Given the description of an element on the screen output the (x, y) to click on. 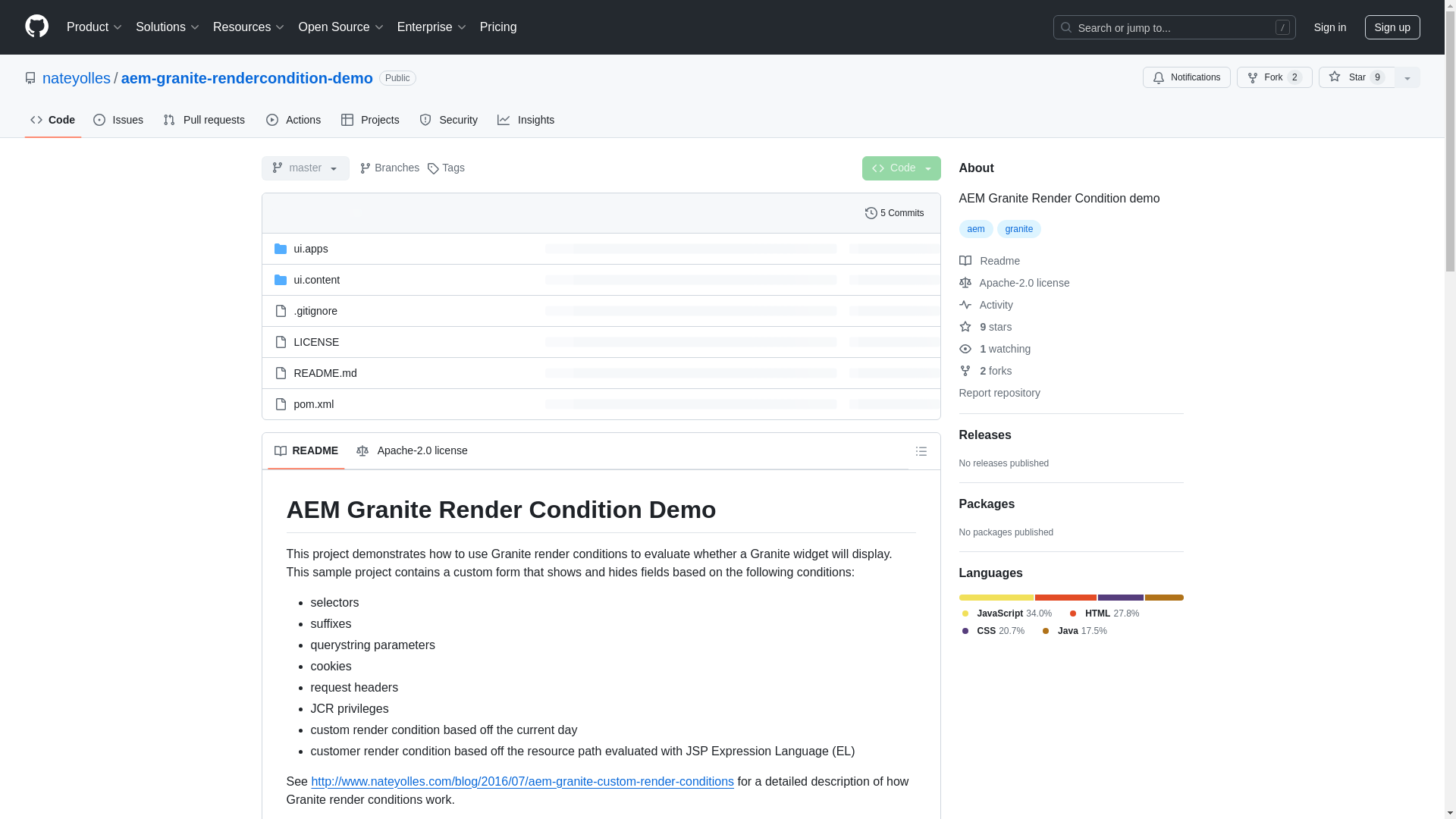
ui.content (317, 278)
9 (1378, 77)
LICENSE (316, 340)
README.md (325, 372)
ui.apps (311, 248)
2 (1295, 77)
Resources (249, 27)
Solutions (167, 27)
.gitignore (315, 310)
